Given the description of an element on the screen output the (x, y) to click on. 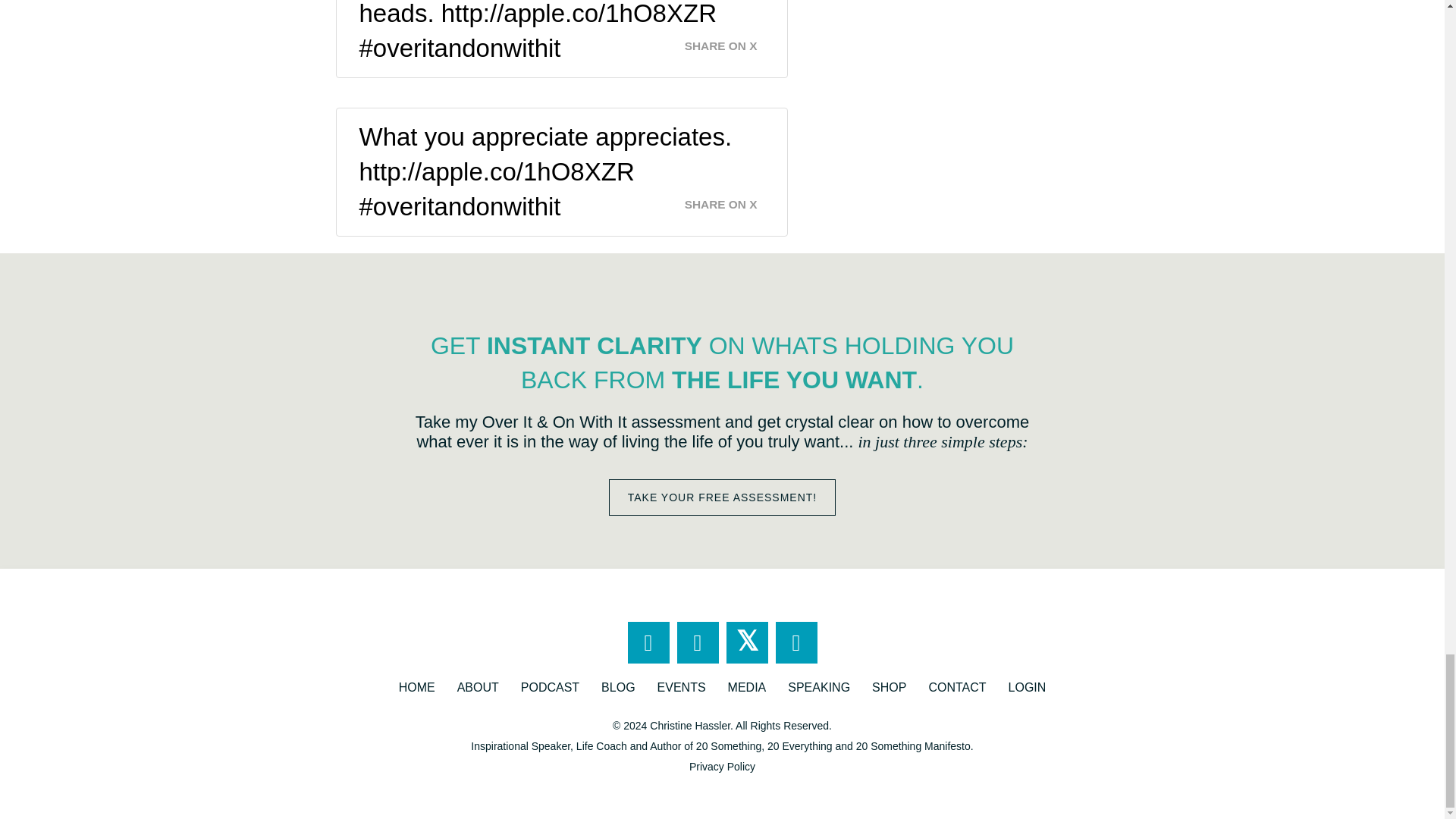
YouTube (795, 642)
Twitter (747, 642)
Instagram (697, 642)
